Given the description of an element on the screen output the (x, y) to click on. 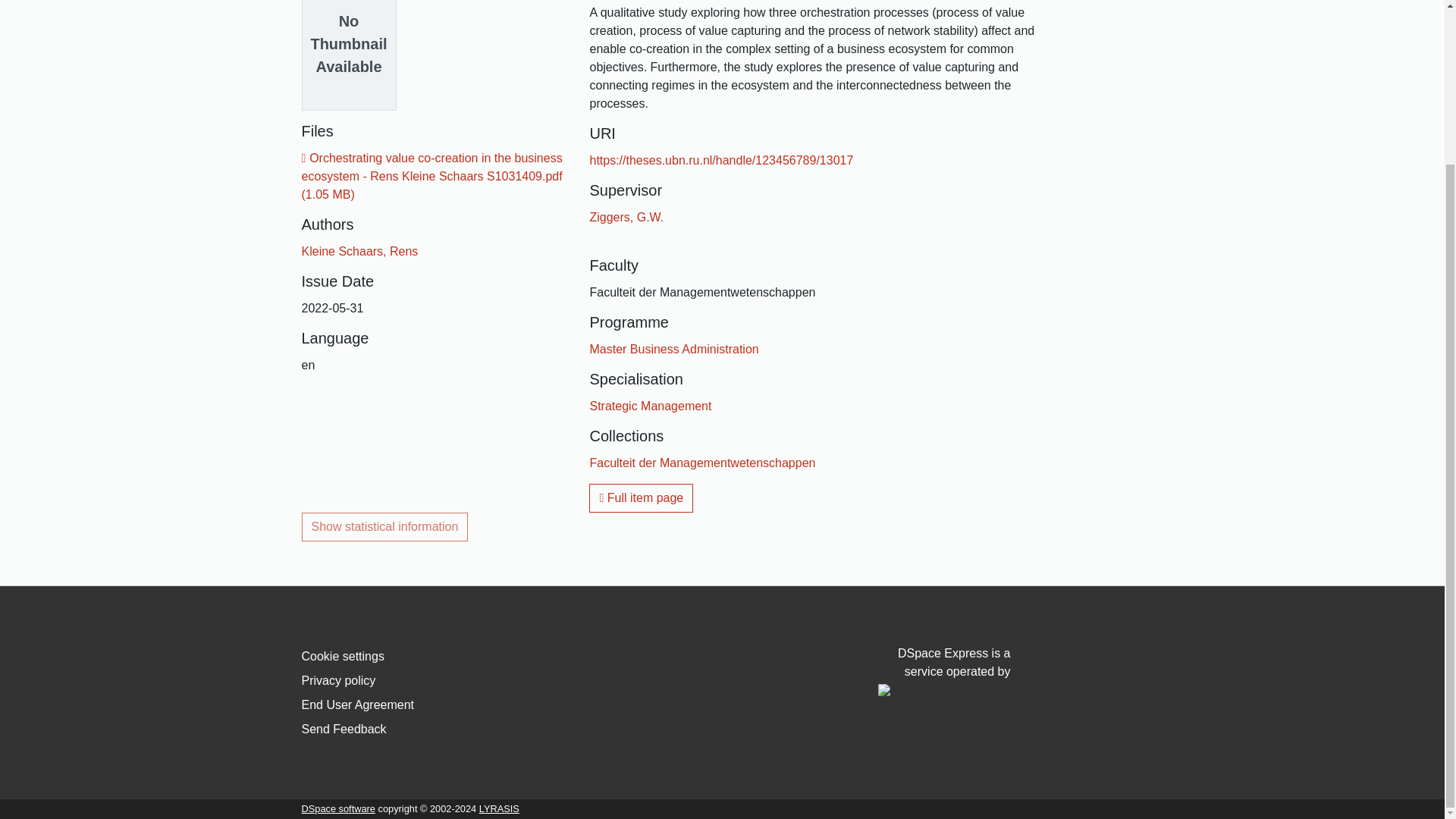
DSpace software (338, 808)
Send Feedback (344, 728)
DSpace Express is a service operated by (943, 671)
LYRASIS (499, 808)
Master Business Administration (673, 349)
Ziggers, G.W. (626, 216)
Privacy policy (338, 680)
Show statistical information (384, 526)
Cookie settings (342, 656)
Full item page (641, 498)
